Given the description of an element on the screen output the (x, y) to click on. 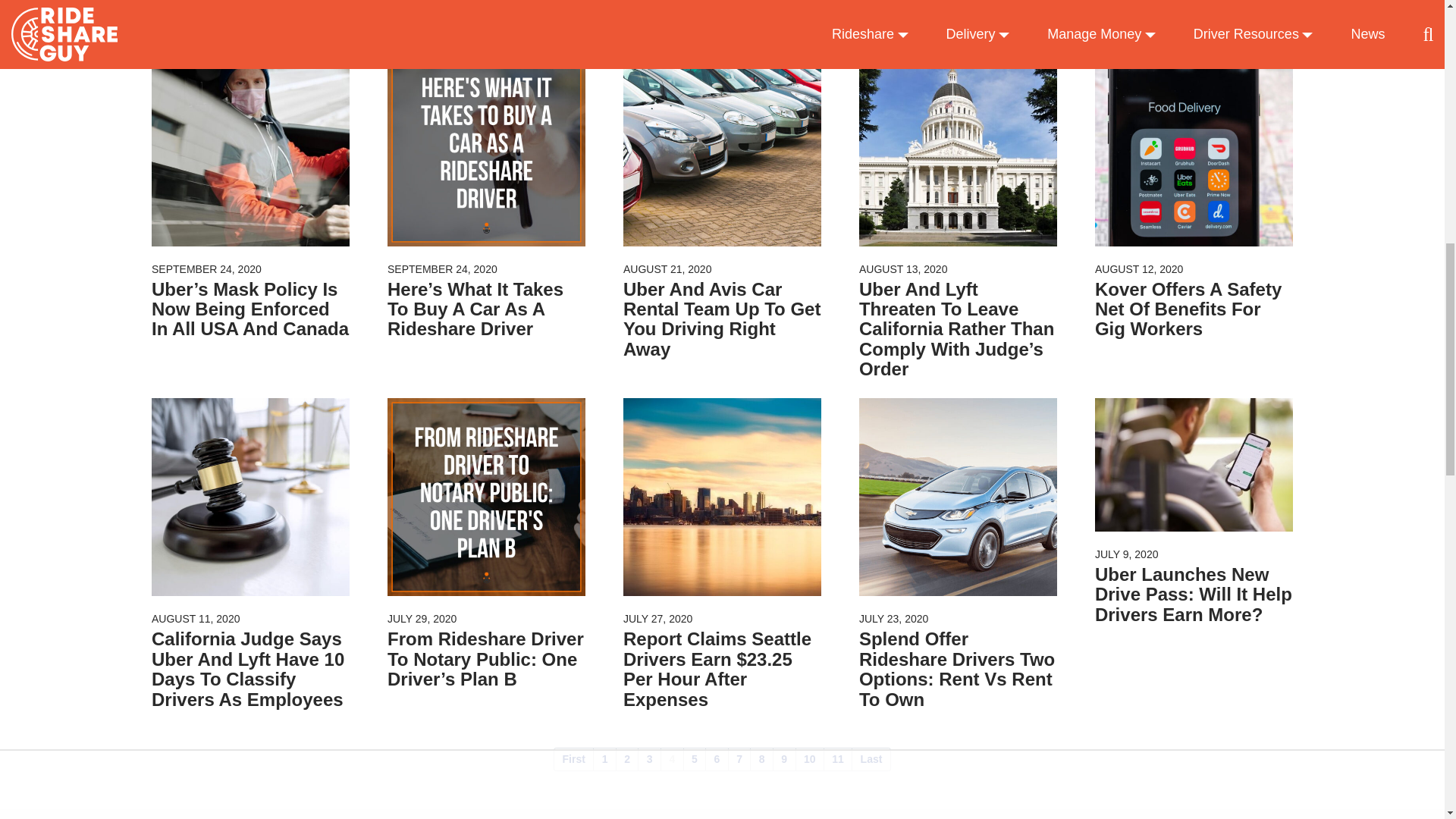
Do Uber Drivers Know The Destination Before Accepting Rides? (958, 14)
How To Use The Lyft Driver App: 2024 Tutorial (722, 4)
